Given the description of an element on the screen output the (x, y) to click on. 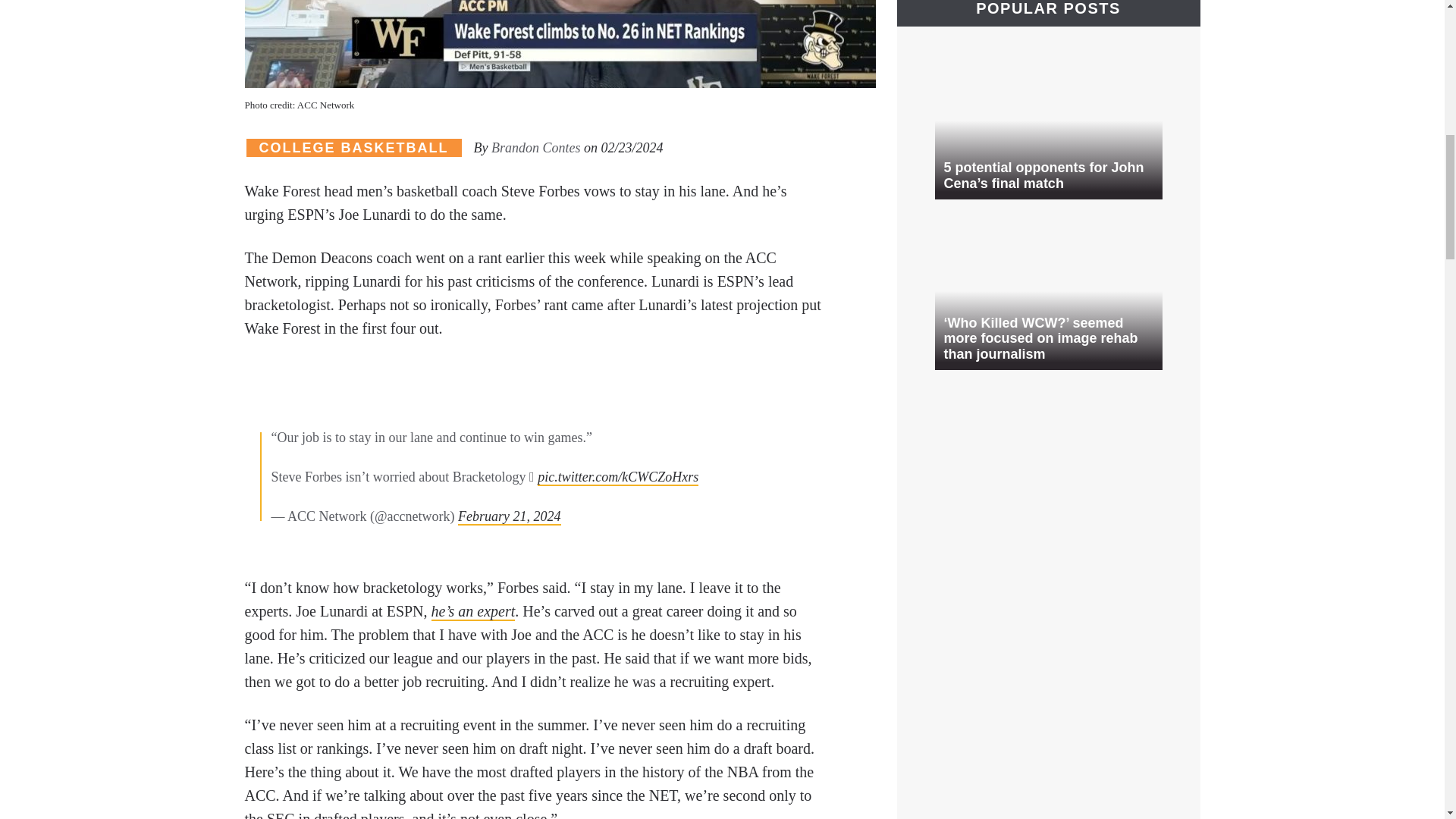
View all posts in College Basketball (353, 148)
